Given the description of an element on the screen output the (x, y) to click on. 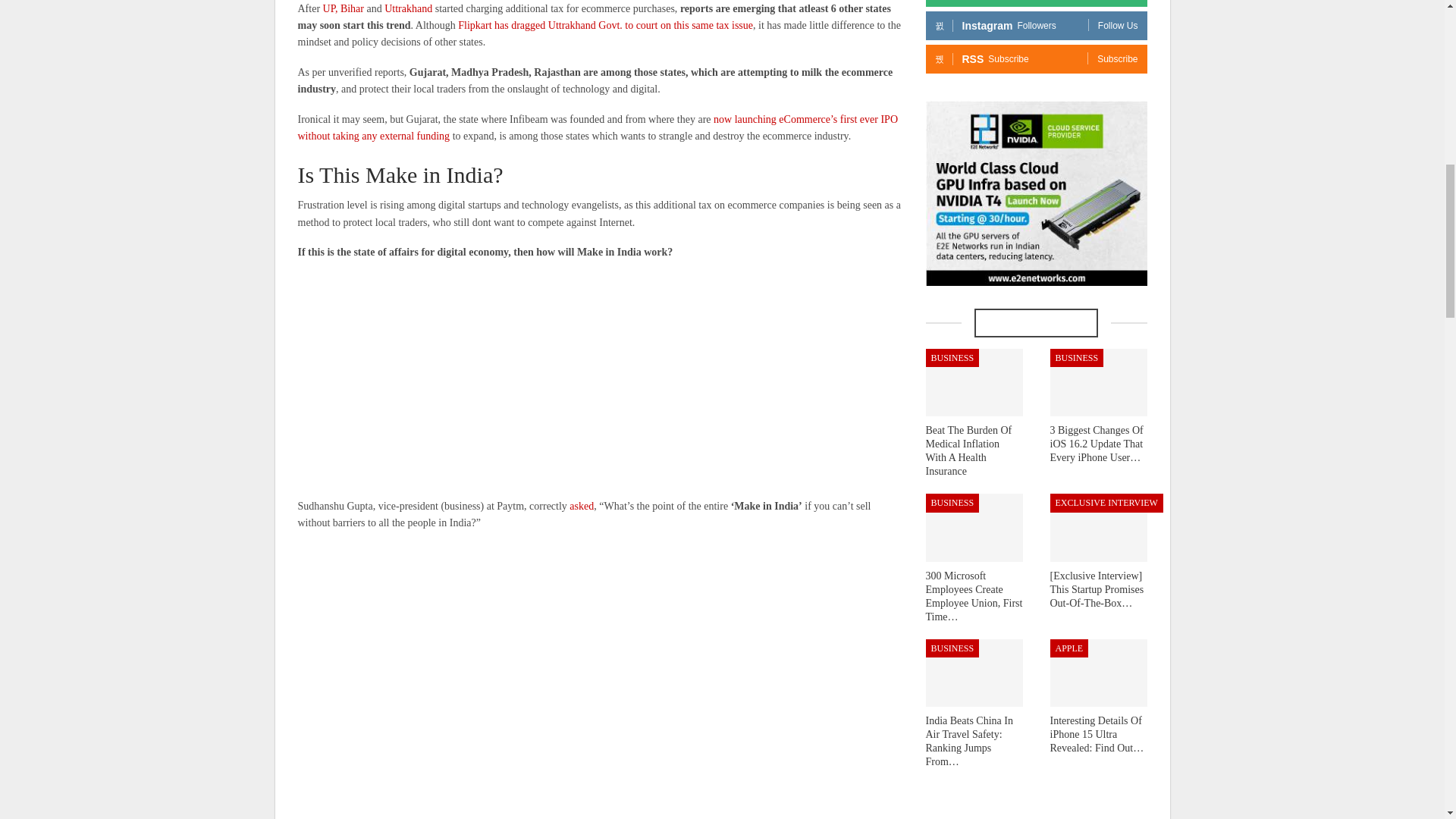
asked (581, 505)
Advertisement (600, 380)
UP, Bihar (343, 8)
Uttrakhand (408, 8)
UP, Bihar (343, 8)
